Given the description of an element on the screen output the (x, y) to click on. 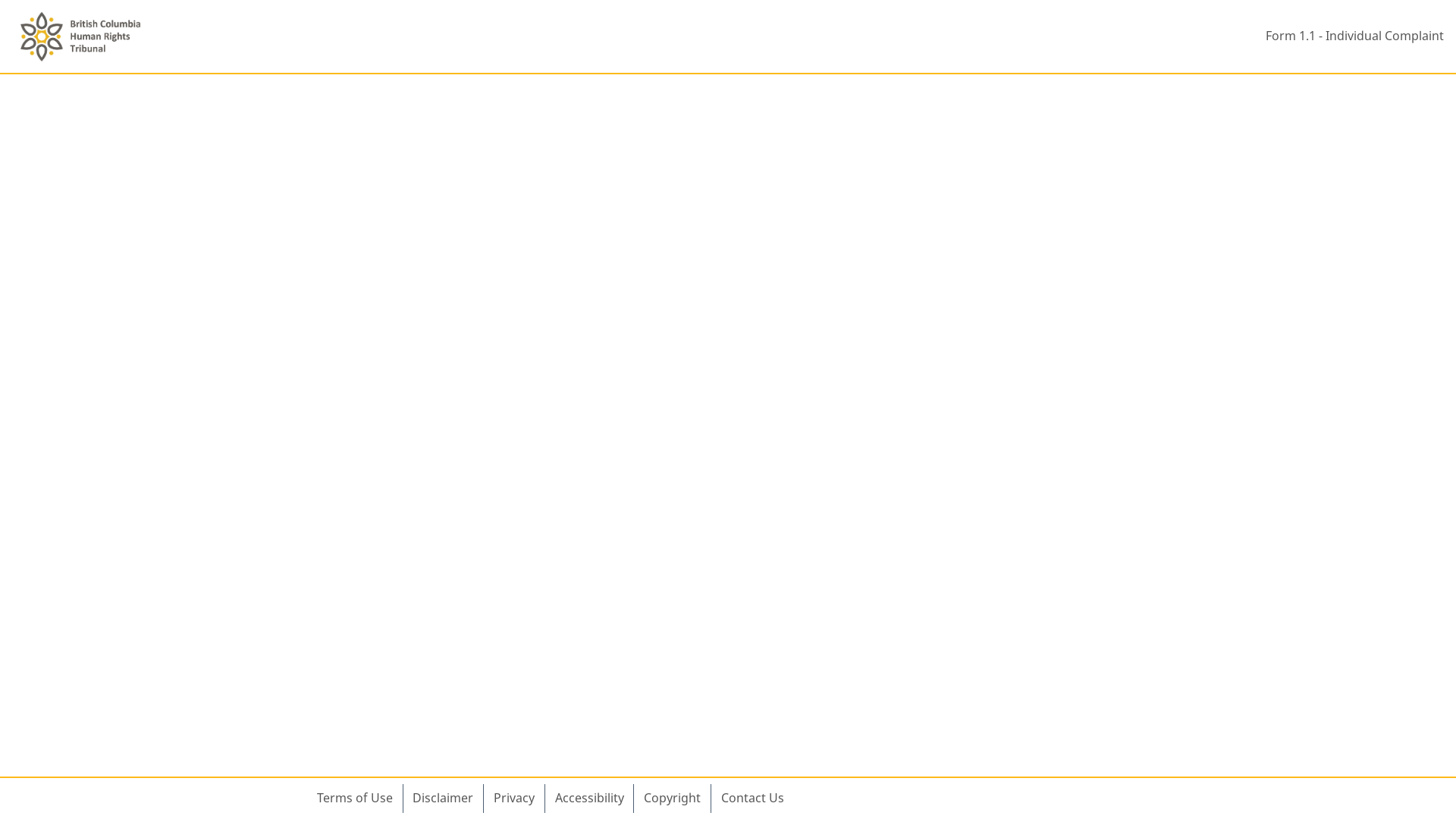
Contact Us Element type: text (752, 798)
Copyright Element type: text (671, 798)
Disclaimer Element type: text (443, 798)
Accessibility Element type: text (589, 798)
Privacy Element type: text (513, 798)
Terms of Use Element type: text (354, 798)
